Given the description of an element on the screen output the (x, y) to click on. 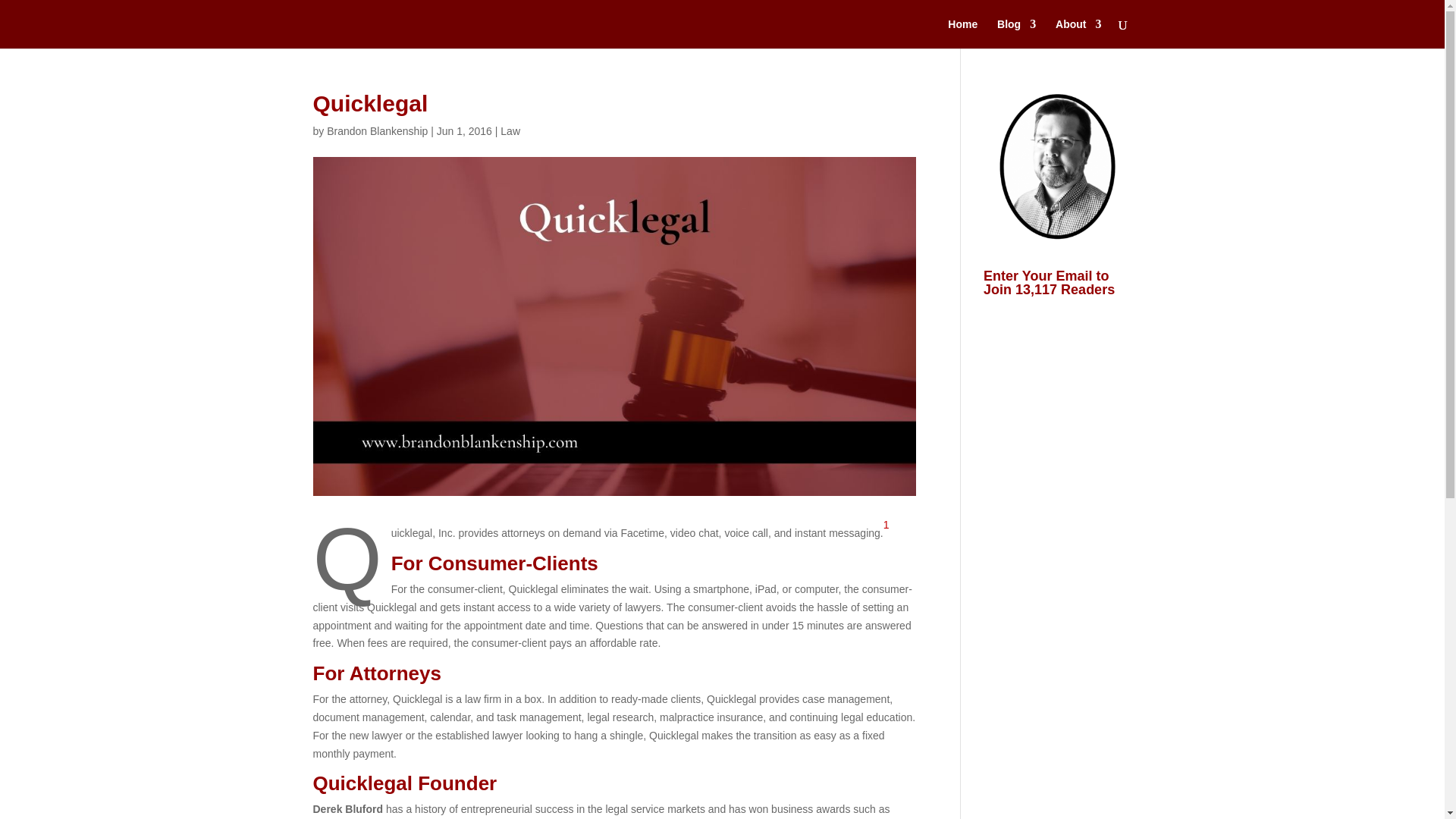
Blog (1016, 33)
About (1077, 33)
Brandon Blankenship (377, 131)
Law (509, 131)
Home (961, 33)
Posts by Brandon Blankenship (377, 131)
